Given the description of an element on the screen output the (x, y) to click on. 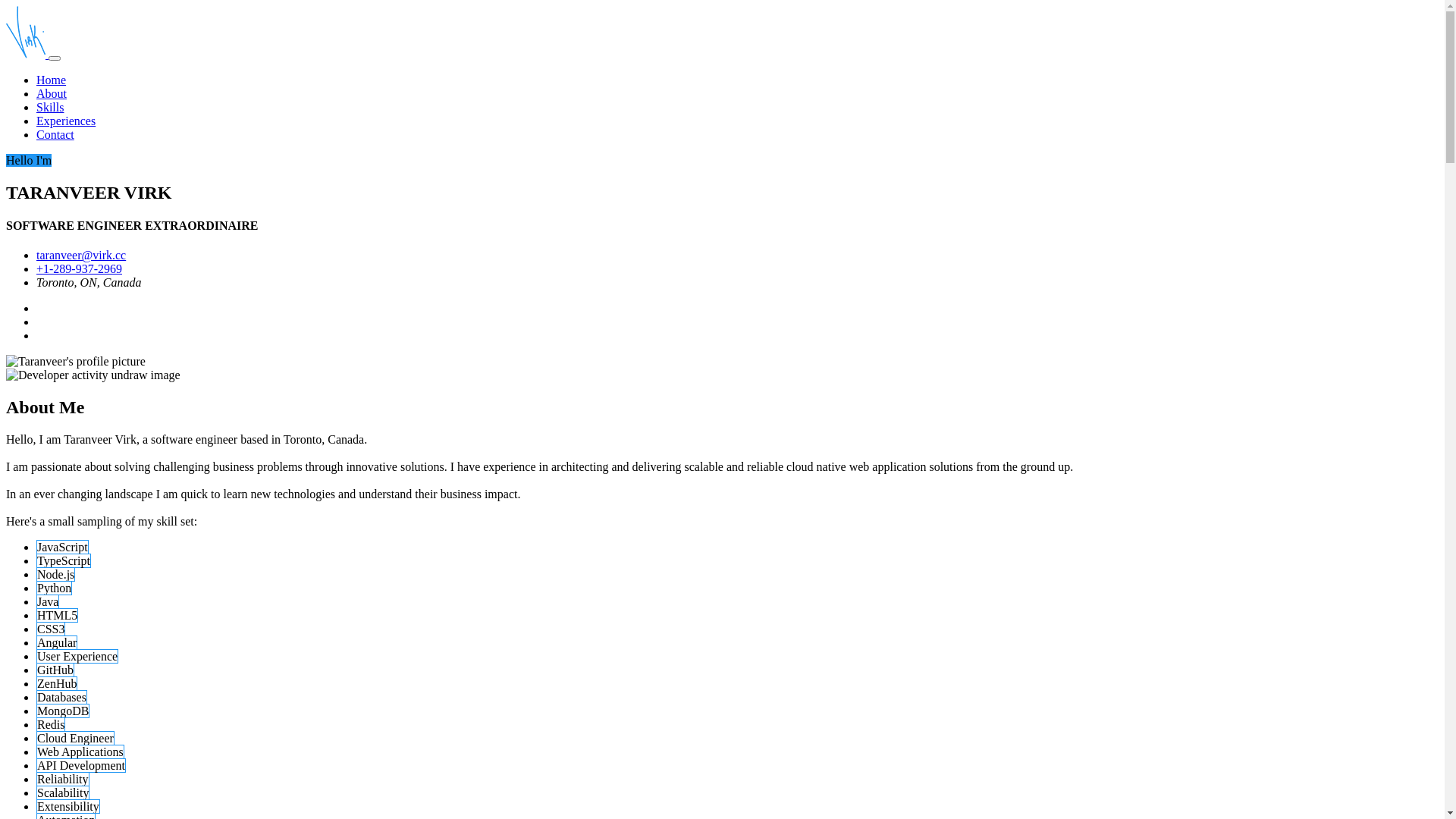
Home Element type: text (50, 79)
Skills Element type: text (49, 106)
+1-289-937-2969 Element type: text (79, 268)
Contact Element type: text (55, 134)
taranveer@virk.cc Element type: text (80, 254)
About Element type: text (51, 93)
Experiences Element type: text (65, 120)
